Given the description of an element on the screen output the (x, y) to click on. 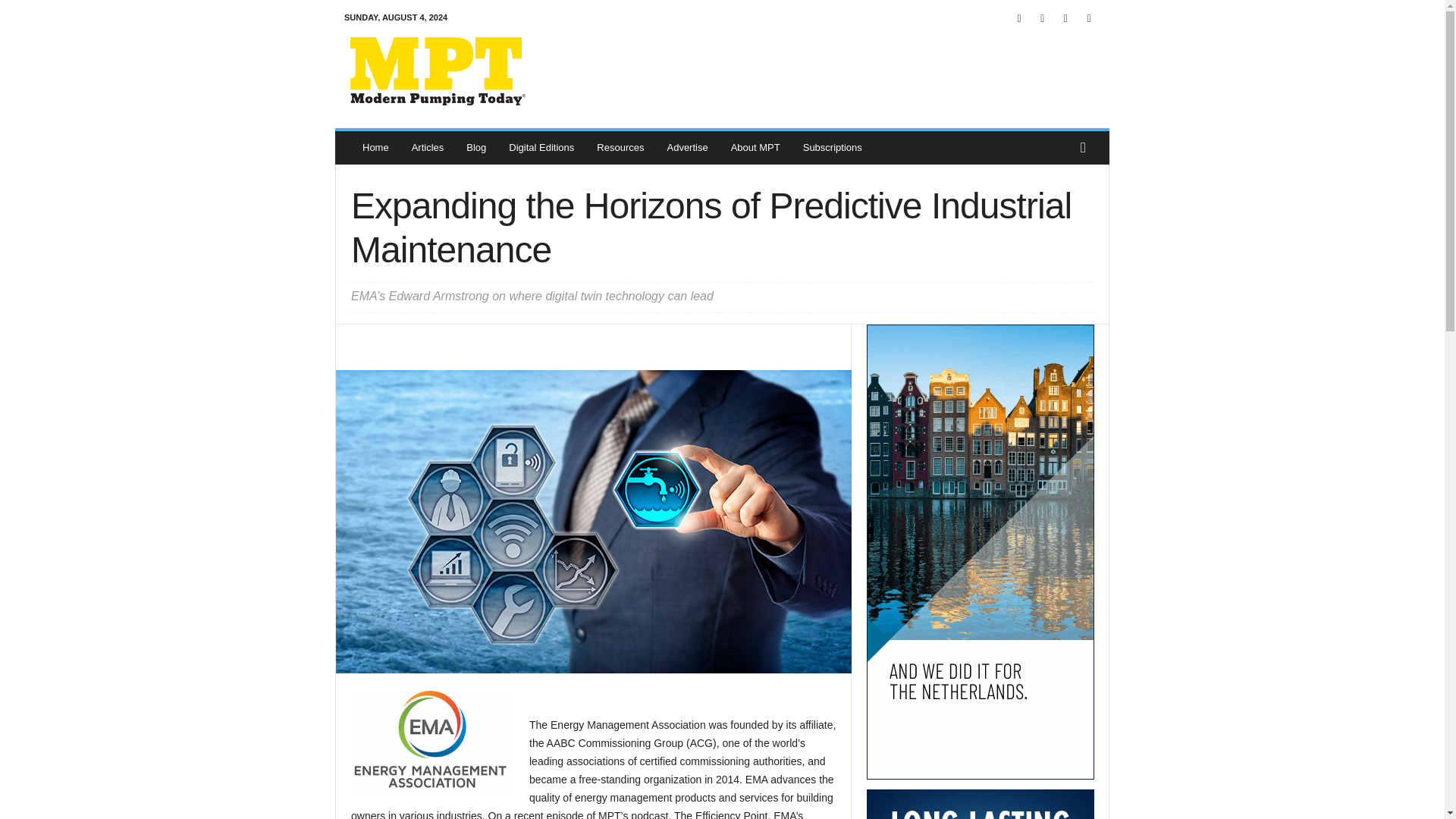
Modern Pumping Today logo (437, 70)
